Given the description of an element on the screen output the (x, y) to click on. 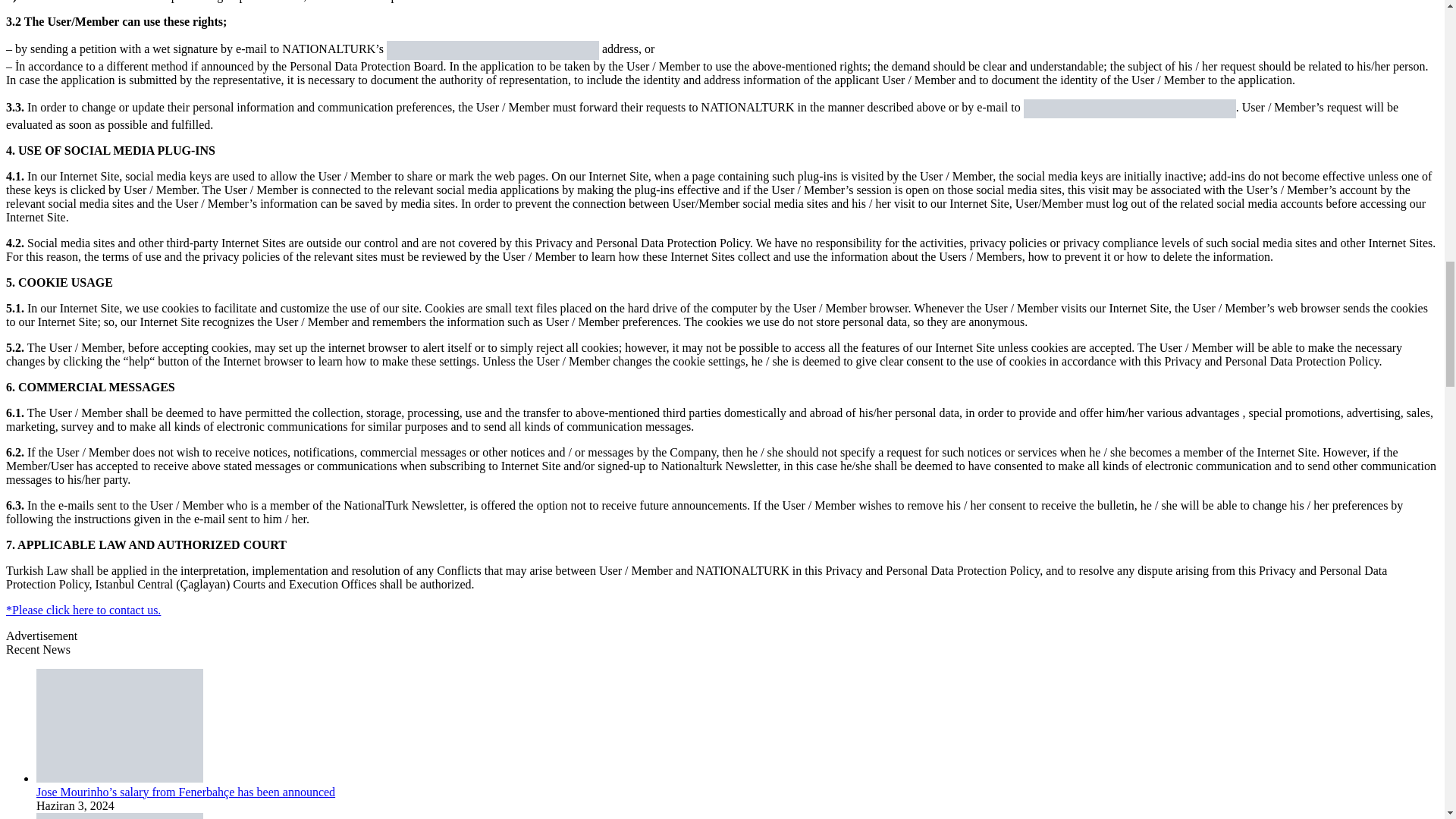
Contact us (82, 609)
